Given the description of an element on the screen output the (x, y) to click on. 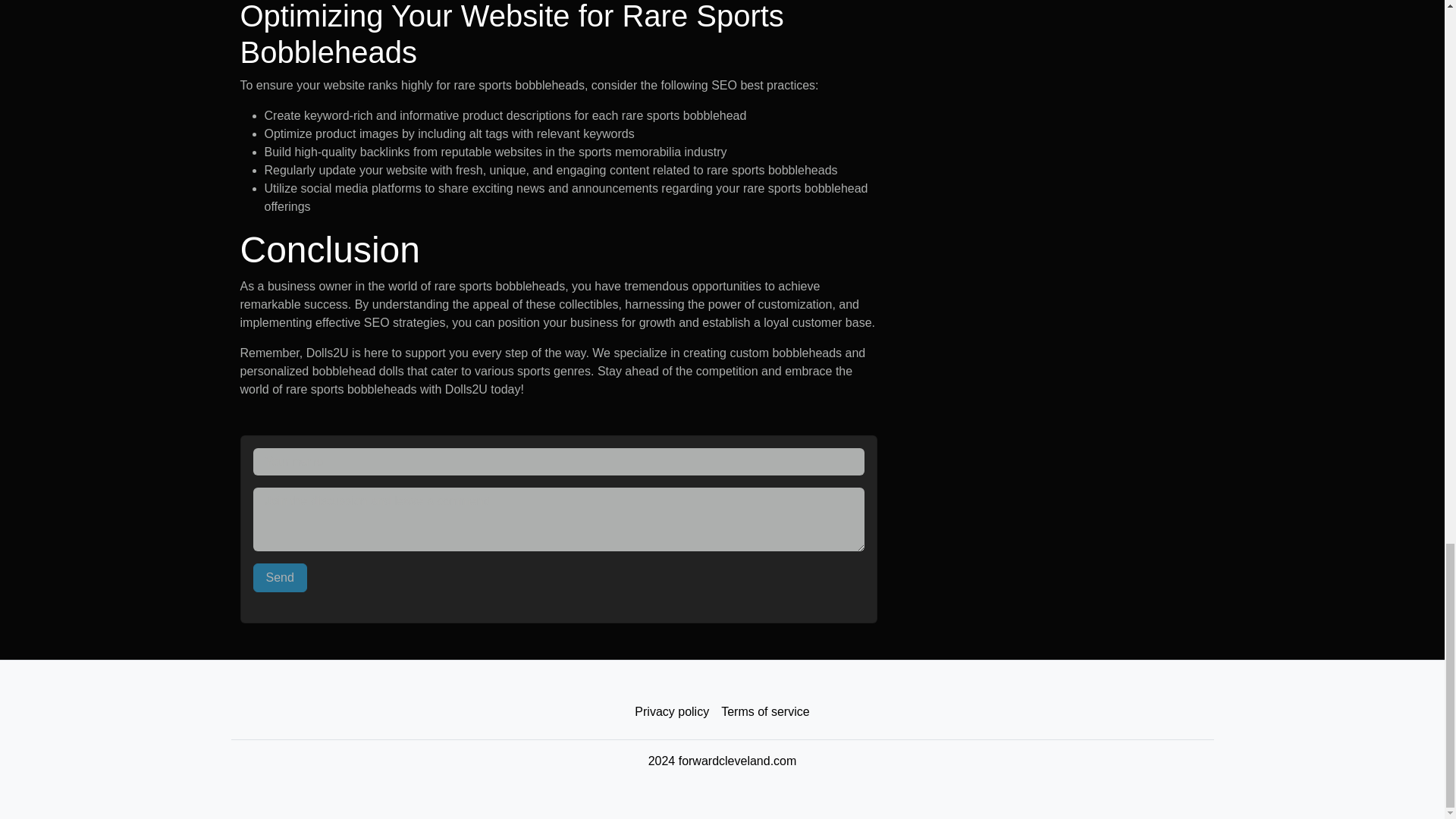
Privacy policy (671, 711)
Terms of service (764, 711)
Send (280, 577)
Send (280, 577)
